Given the description of an element on the screen output the (x, y) to click on. 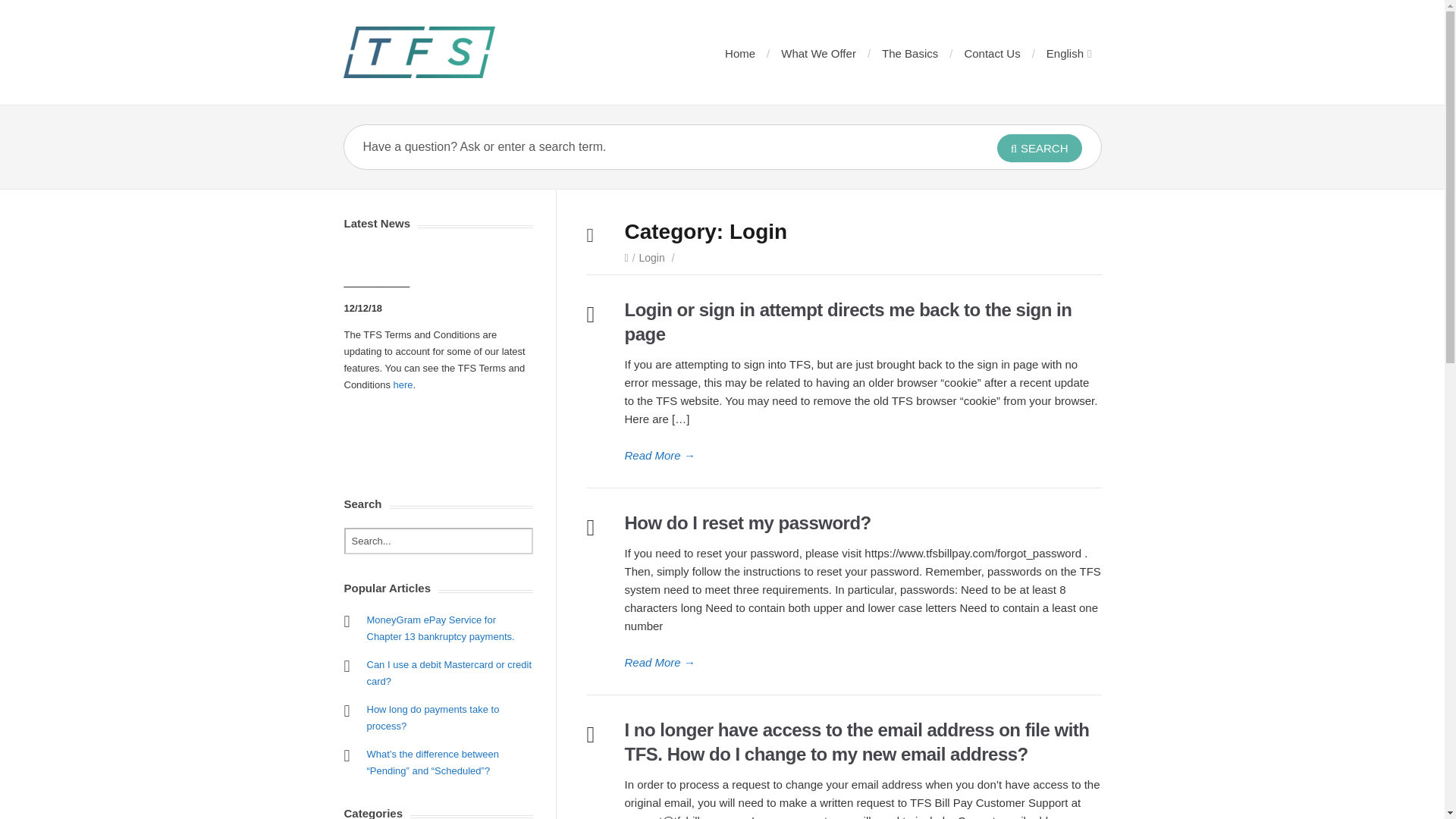
SEARCH (1039, 148)
Login (652, 257)
Have a question? Ask or enter a search term. (646, 146)
MoneyGram ePay Service for Chapter 13 bankruptcy payments. (440, 628)
Home (740, 52)
Can I use a debit Mastercard or credit card? (449, 673)
English (1068, 52)
How do I reset my password? (863, 662)
Login or sign in attempt directs me back to the sign in page (847, 321)
TFS Bill Pay Customer Support (418, 51)
here (403, 384)
The Basics (909, 52)
How long do payments take to process? (432, 717)
How do I reset my password? (747, 522)
Search... (437, 540)
